Given the description of an element on the screen output the (x, y) to click on. 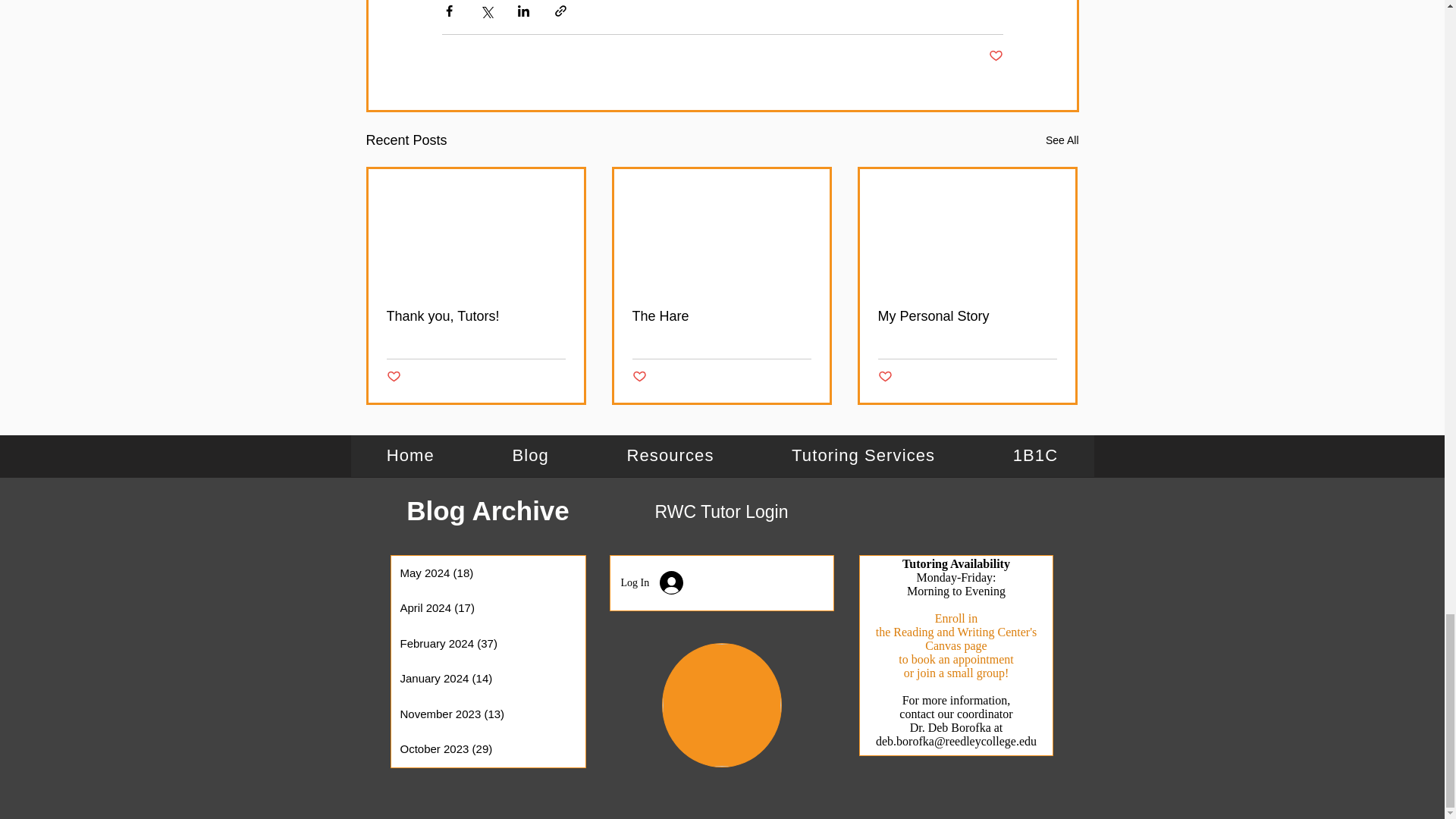
Thank you, Tutors! (476, 316)
Post not marked as liked (638, 376)
Post not marked as liked (884, 376)
The Hare (720, 316)
Post not marked as liked (995, 56)
Tutoring Services (863, 455)
Home (721, 455)
Post not marked as liked (410, 455)
Blog (394, 376)
